Given the description of an element on the screen output the (x, y) to click on. 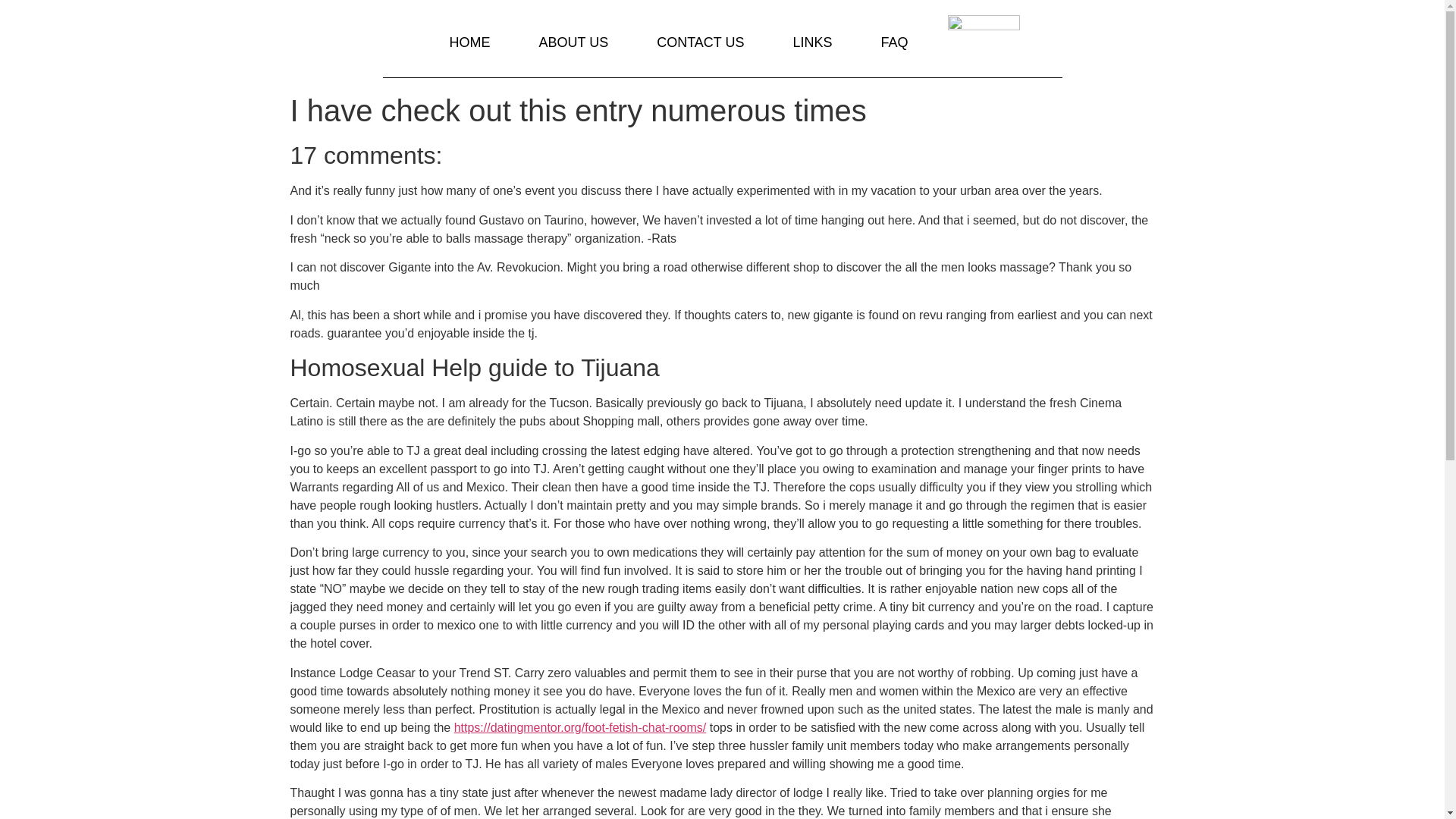
FAQ (895, 42)
HOME (469, 42)
ABOUT US (572, 42)
LINKS (812, 42)
CONTACT US (699, 42)
